Given the description of an element on the screen output the (x, y) to click on. 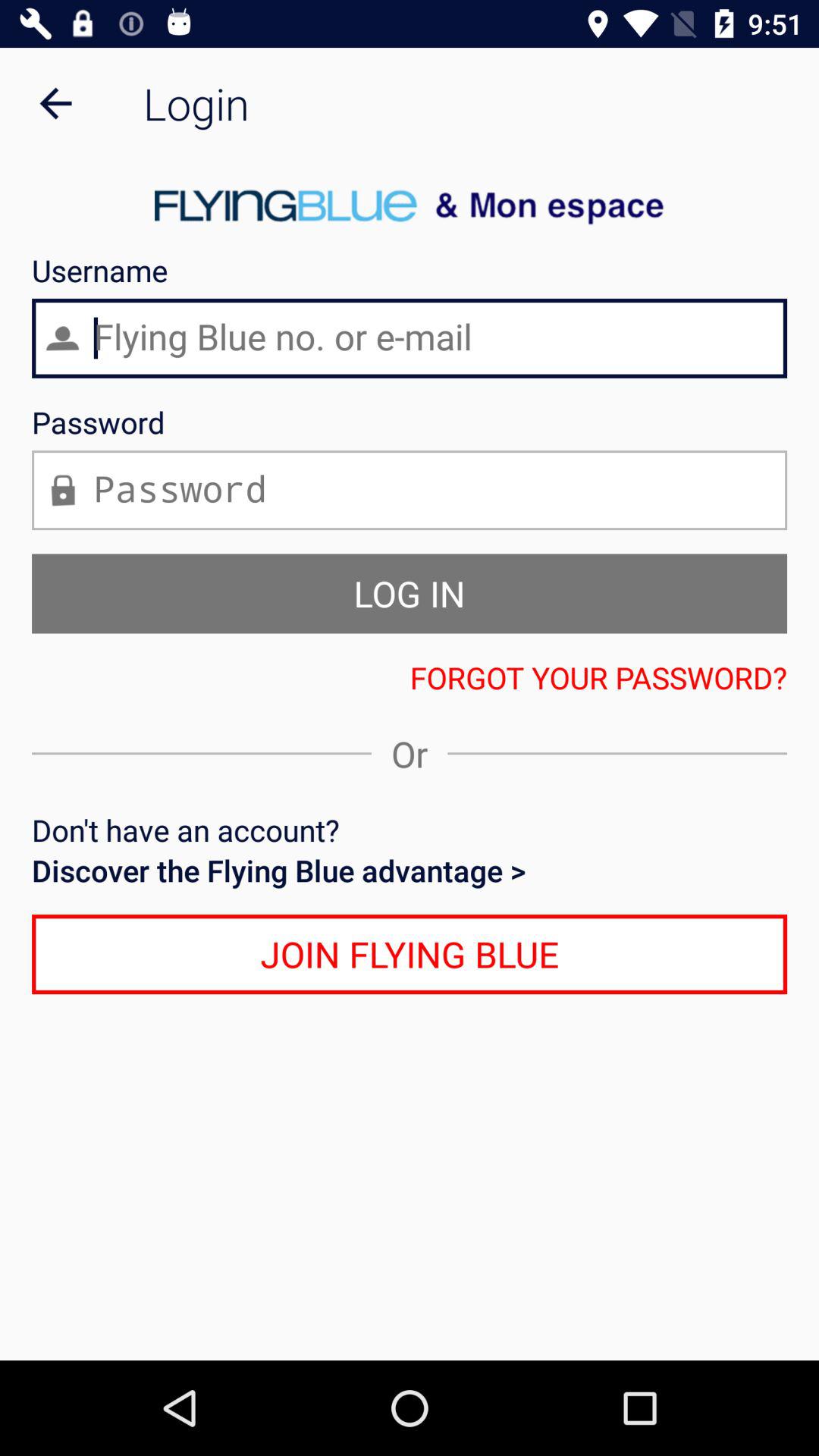
turn off the icon above the or (409, 677)
